Given the description of an element on the screen output the (x, y) to click on. 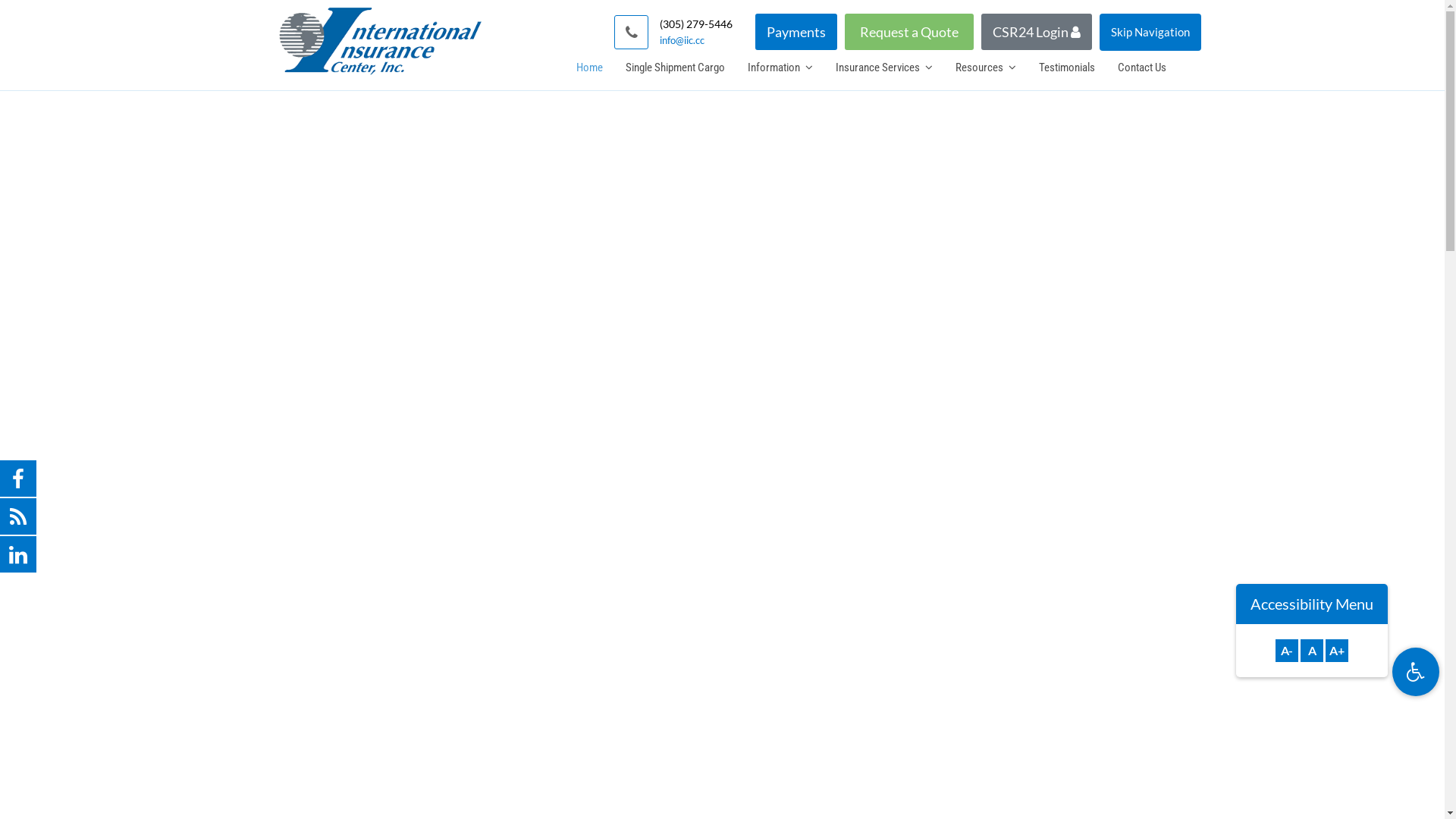
Single Shipment Cargo Element type: text (675, 67)
A+ Element type: text (1336, 650)
Insurance Services Element type: text (883, 67)
Information Element type: text (779, 67)
A Element type: text (1311, 650)
Resources Element type: text (984, 67)
Home Element type: text (588, 67)
(305) 279-5446 Element type: text (695, 23)
Request a Quote Element type: text (908, 31)
A- Element type: text (1286, 650)
CSR24 Login Element type: text (1036, 31)
Payments Element type: text (796, 31)
Contact Us Element type: text (1140, 67)
Testimonials Element type: text (1065, 67)
info@iic.cc Element type: text (695, 40)
